Given the description of an element on the screen output the (x, y) to click on. 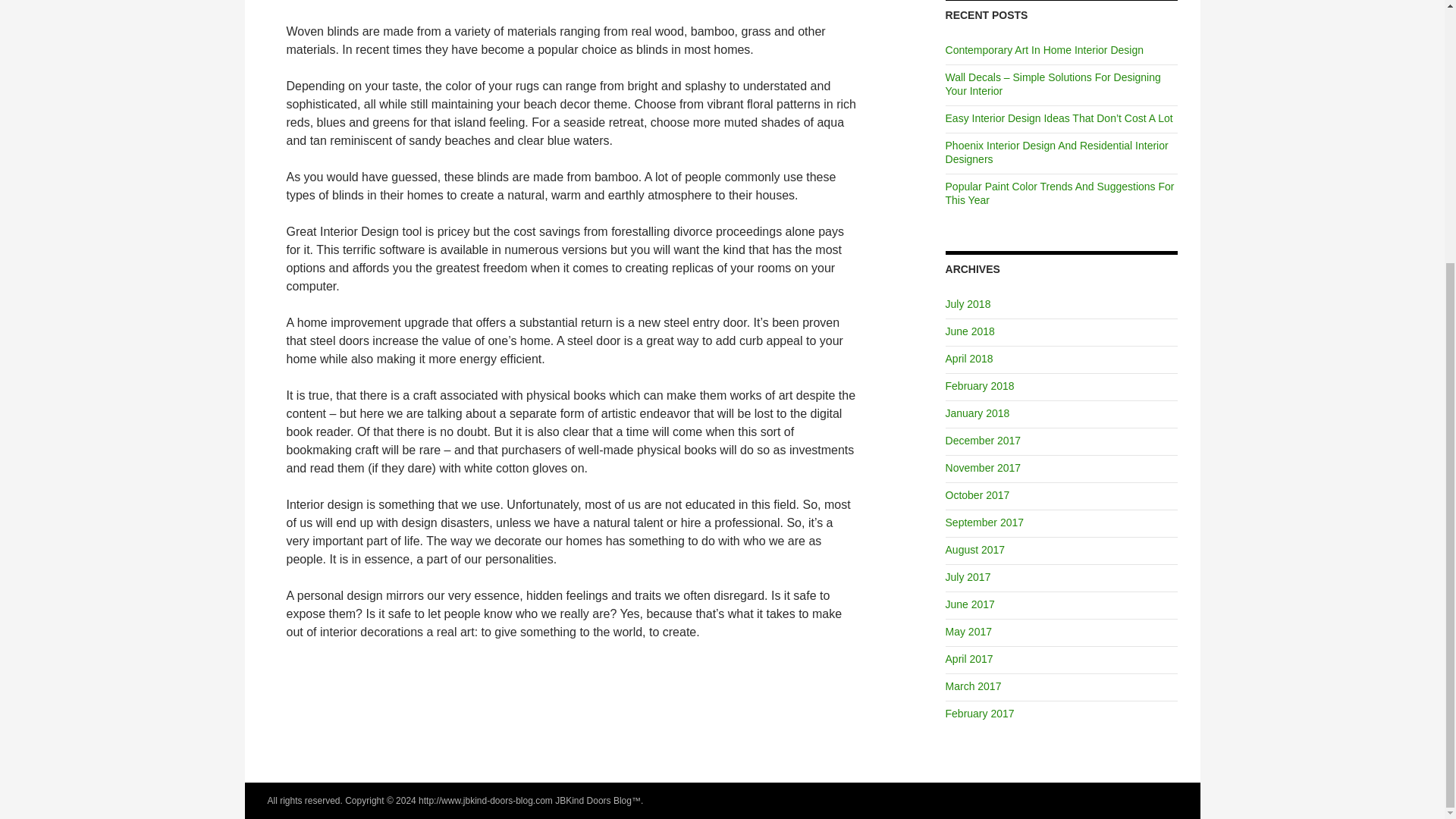
April 2018 (968, 358)
February 2018 (979, 386)
October 2017 (977, 494)
July 2017 (967, 576)
September 2017 (984, 522)
June 2018 (969, 331)
August 2017 (975, 549)
Contemporary Art In Home Interior Design (1043, 50)
April 2017 (968, 658)
Phoenix Interior Design And Residential Interior Designers (1056, 152)
June 2017 (969, 604)
JBKind Doors Blog (592, 800)
November 2017 (983, 467)
February 2017 (979, 713)
May 2017 (967, 631)
